Given the description of an element on the screen output the (x, y) to click on. 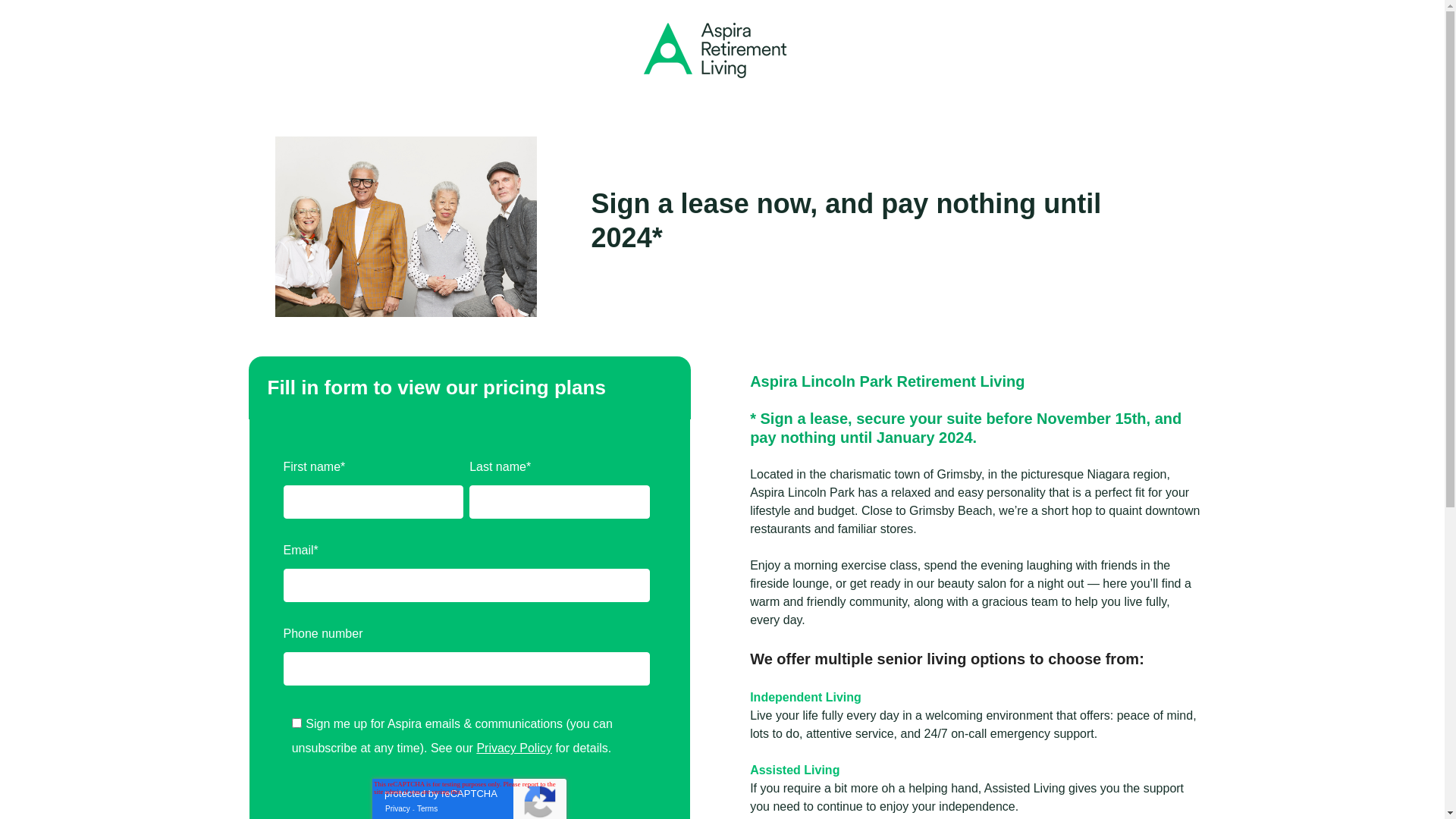
Privacy Policy Element type: text (514, 747)
Aspira Group Photo Element type: hover (405, 226)
